Given the description of an element on the screen output the (x, y) to click on. 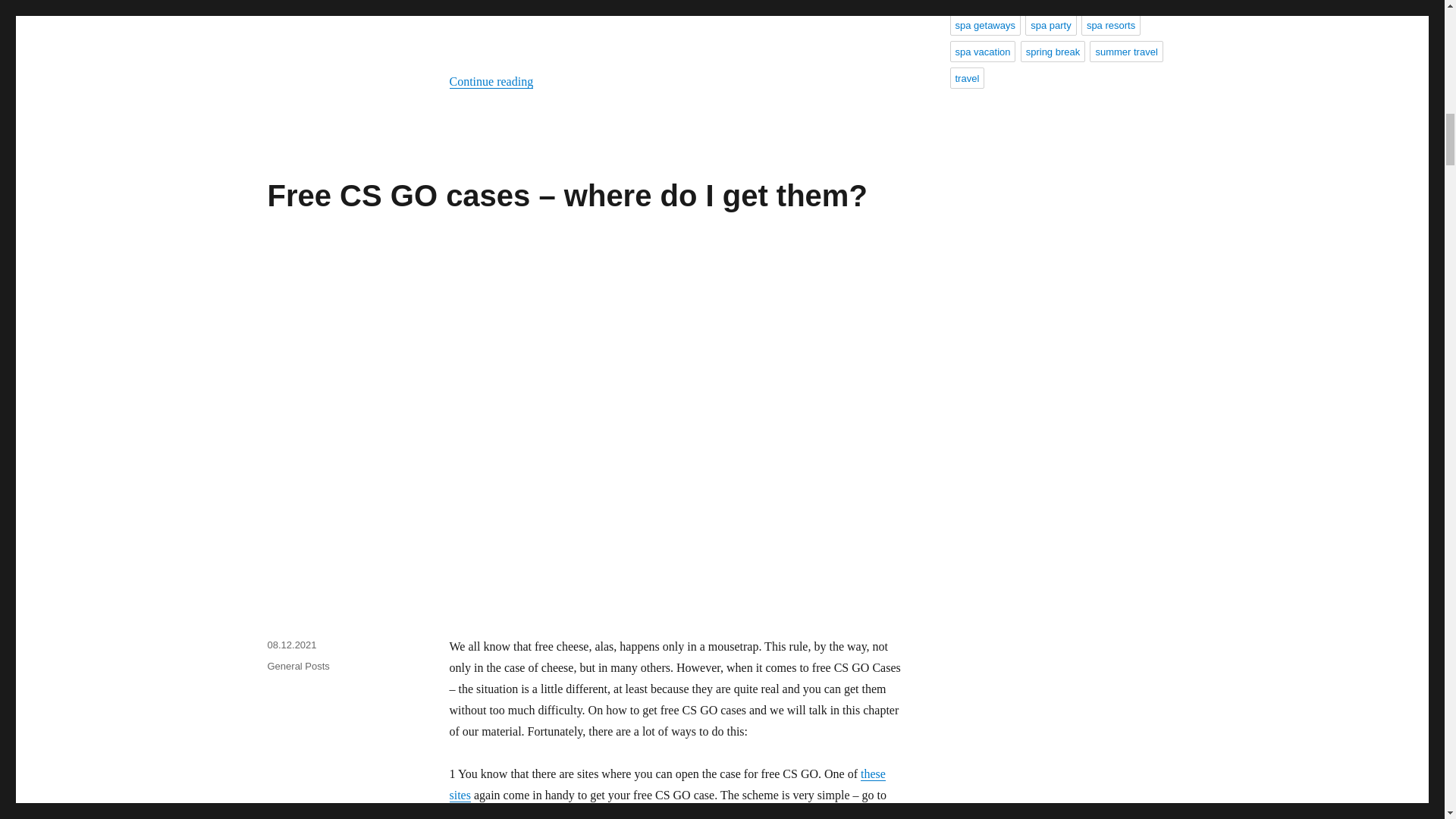
General Posts (297, 665)
08.12.2021 (290, 644)
these sites (666, 784)
